Given the description of an element on the screen output the (x, y) to click on. 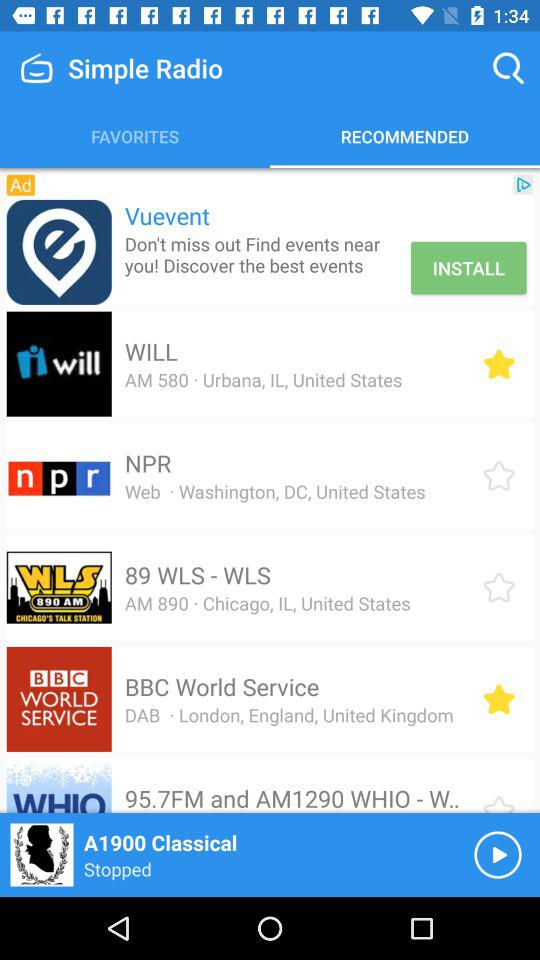
choose the icon to the left of vuevent item (58, 251)
